Given the description of an element on the screen output the (x, y) to click on. 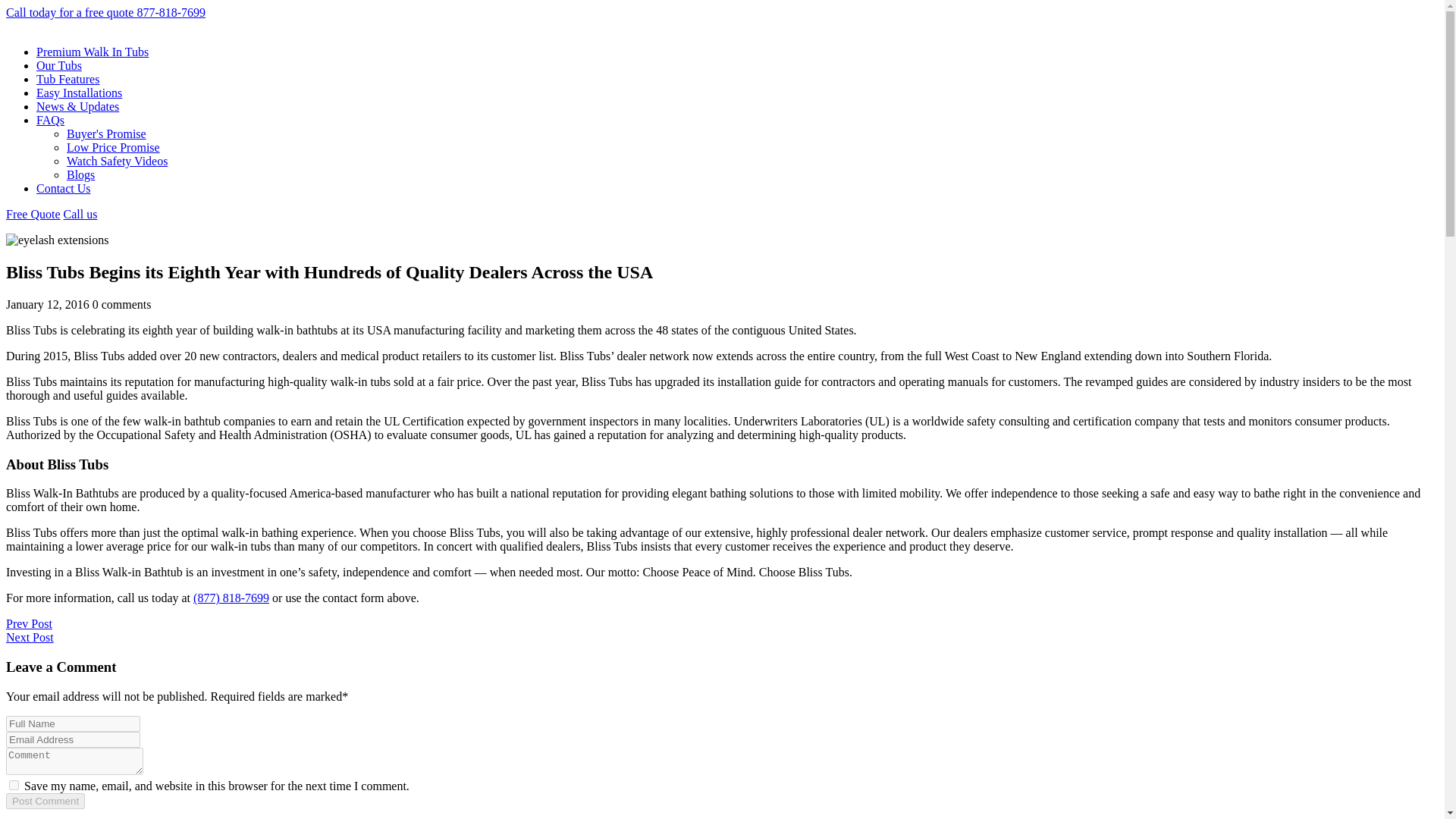
January 12, 2016 (46, 304)
FAQs (50, 119)
Tub Features (67, 78)
Call us (80, 214)
Call today for a free quote 877-818-7699 (105, 11)
0 comments (122, 304)
Prev Post (28, 623)
Low Price Promise (113, 146)
Premium Walk In Tubs (92, 51)
Blogs (80, 174)
yes (13, 785)
Free Quote (33, 214)
Buyer's Promise (106, 133)
Post Comment (44, 801)
Easy Installations (79, 92)
